Given the description of an element on the screen output the (x, y) to click on. 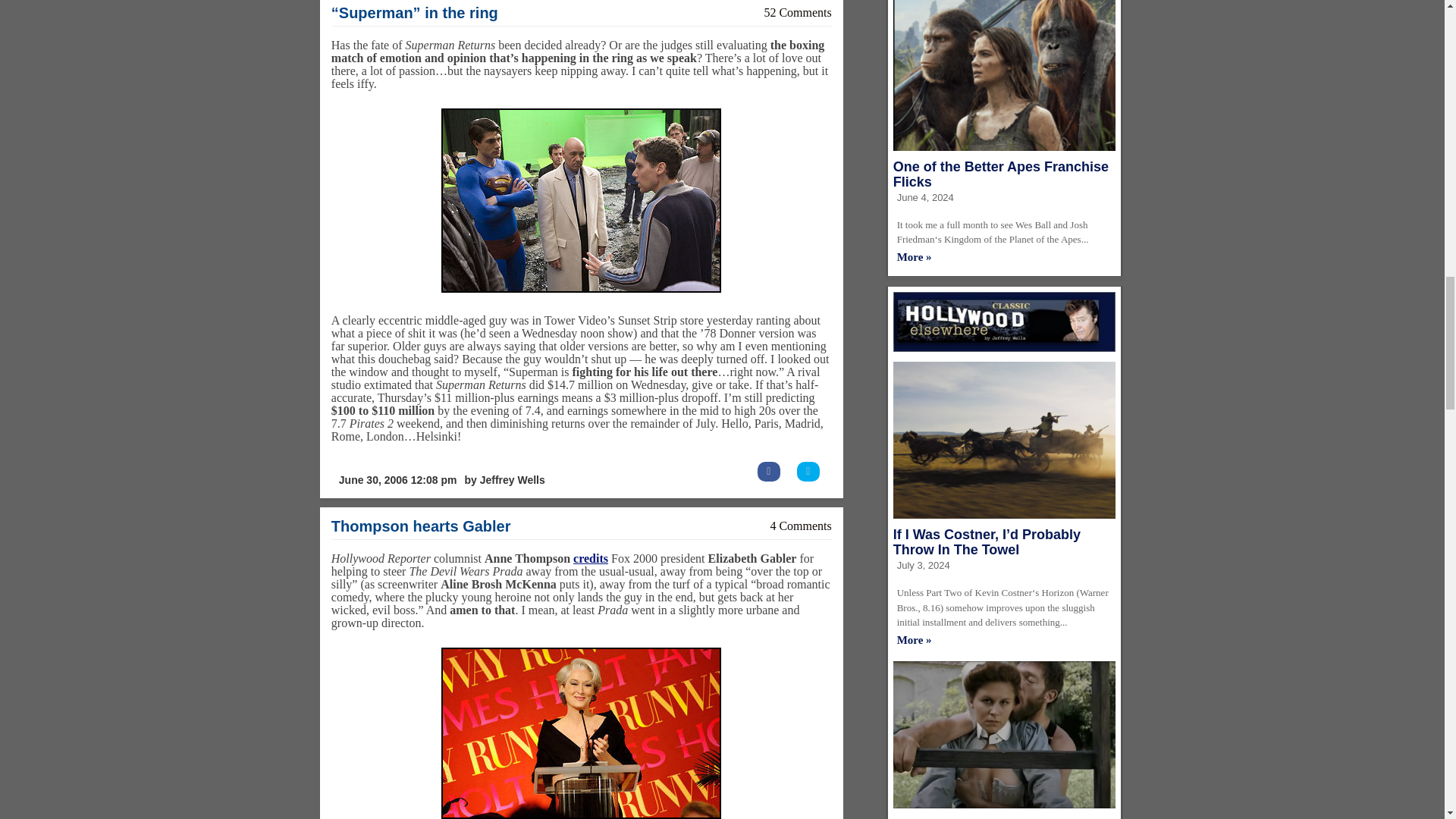
Permanent Link to Thompson hearts Gabler (421, 525)
